Given the description of an element on the screen output the (x, y) to click on. 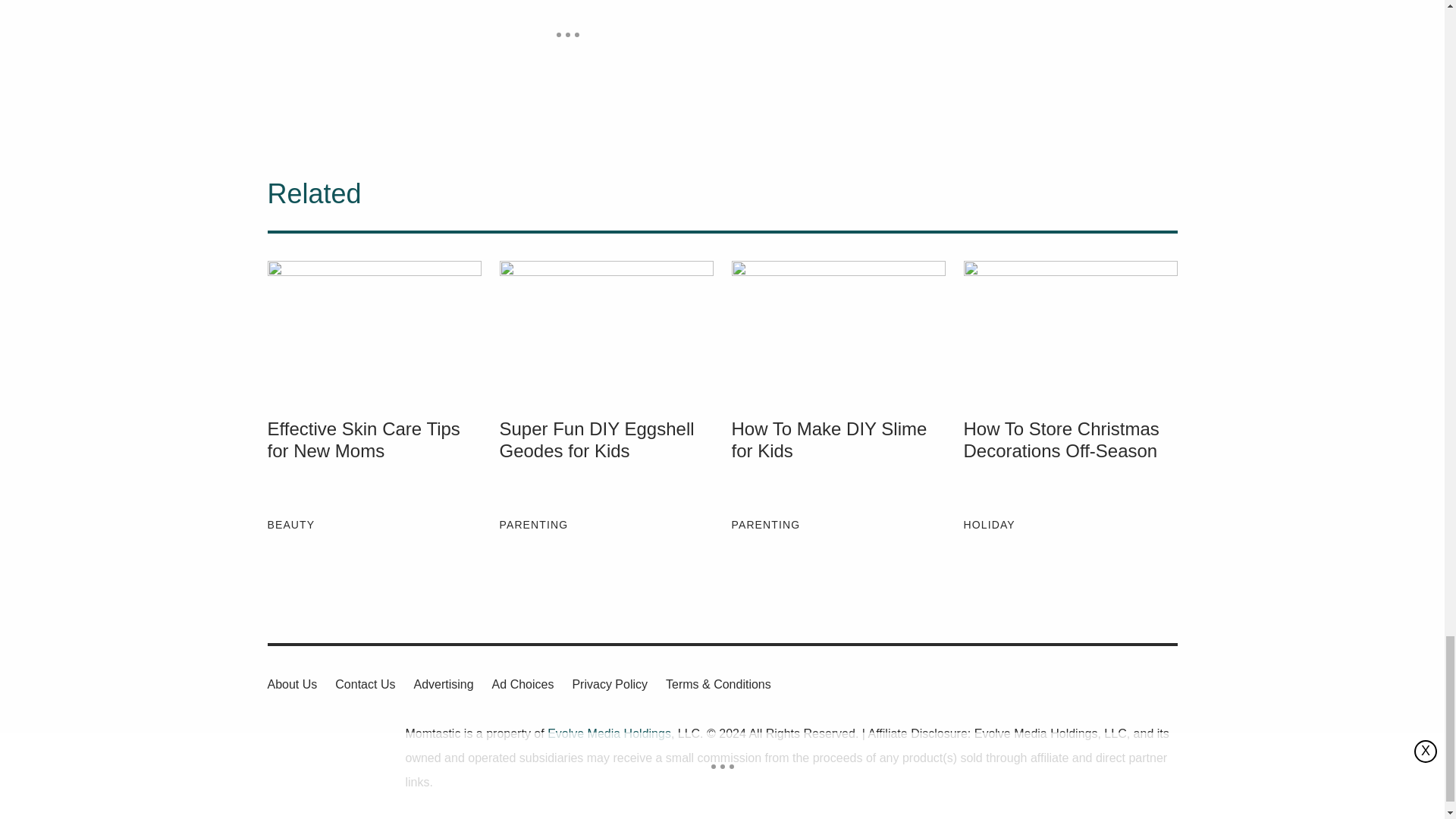
How To Store Christmas Decorations Off-Season (1069, 328)
How To Store Christmas Decorations Off-Season (1069, 462)
Effective Skin Care Tips for New Moms (373, 328)
How To Make DIY Slime for Kids (837, 462)
How To Make DIY Slime for Kids (837, 328)
Super Fun DIY Eggshell Geodes for Kids (606, 328)
Super Fun DIY Eggshell Geodes for Kids (606, 462)
Effective Skin Care Tips for New Moms (373, 462)
